Given the description of an element on the screen output the (x, y) to click on. 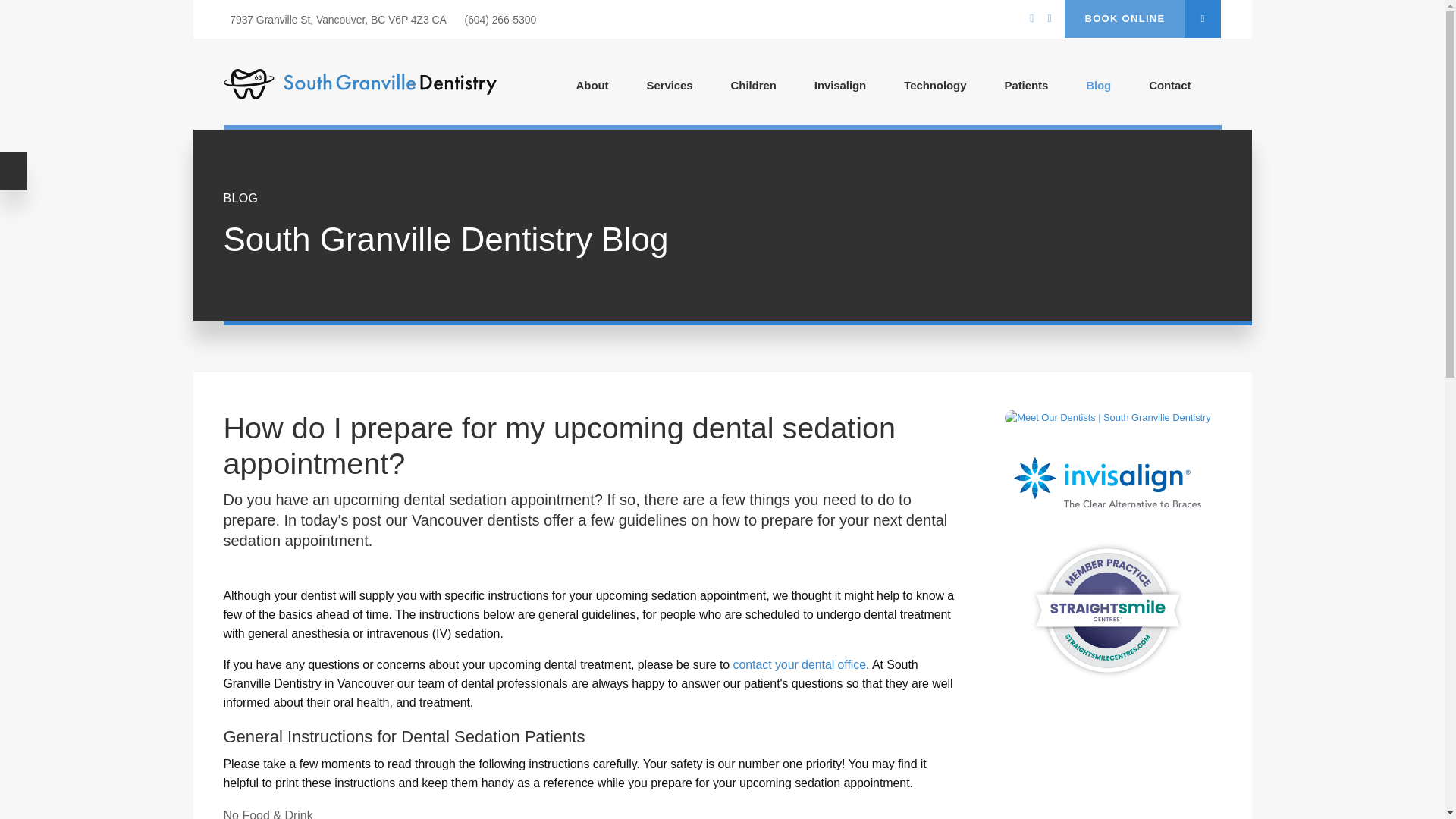
BOOK ONLINE (1142, 18)
